Given the description of an element on the screen output the (x, y) to click on. 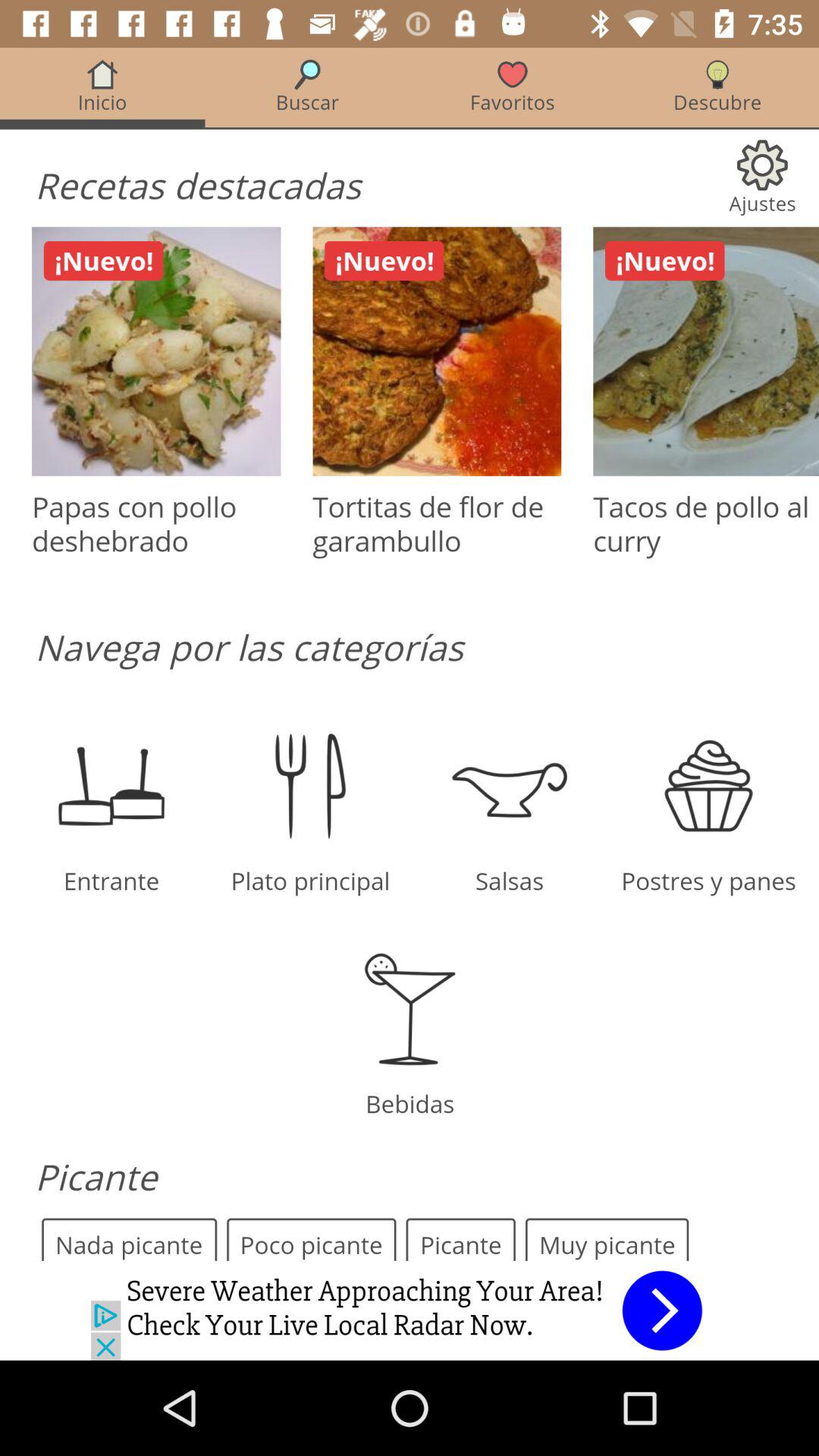
click discriiption (409, 653)
